Given the description of an element on the screen output the (x, y) to click on. 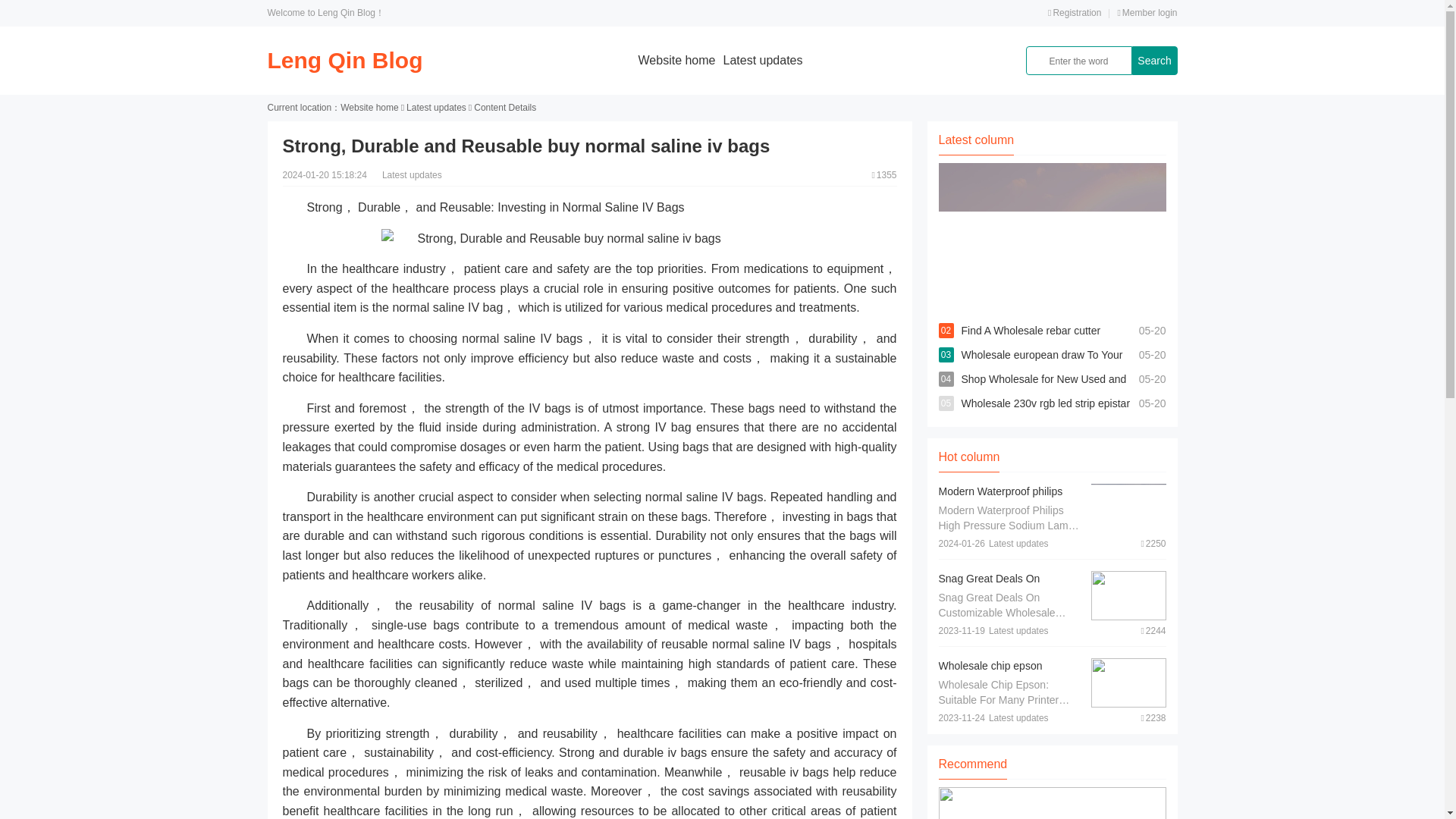
Find A Wholesale rebar cutter manual For All Situations (1030, 342)
Search (1153, 60)
Wholesale chip epson Suitable For Many Printer Types (999, 680)
Website home (677, 60)
Leng Qin Blog (344, 59)
Registration (1074, 12)
Latest updates (435, 107)
Member login (1146, 12)
